Given the description of an element on the screen output the (x, y) to click on. 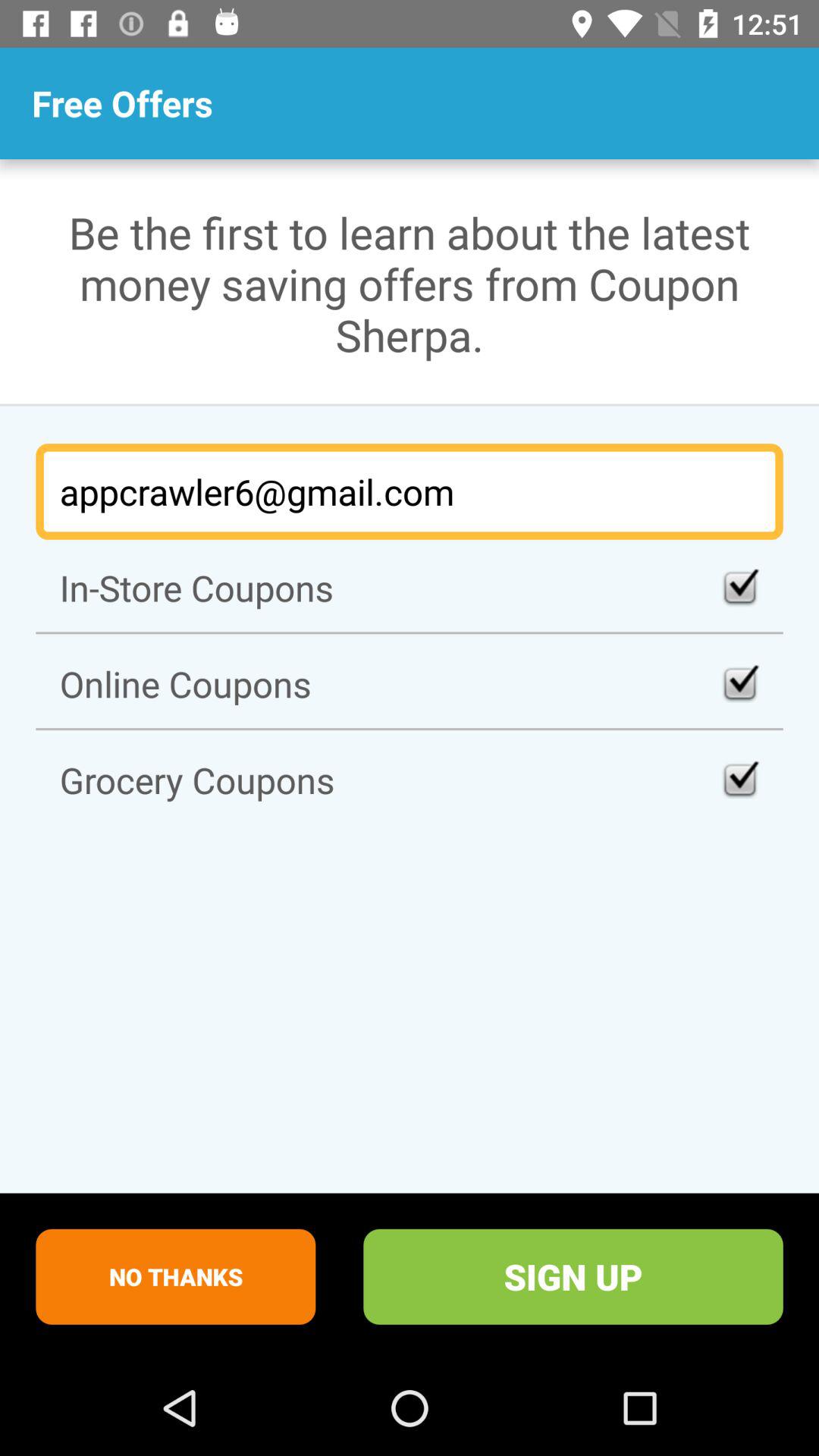
turn on sign up at the bottom right corner (573, 1276)
